Given the description of an element on the screen output the (x, y) to click on. 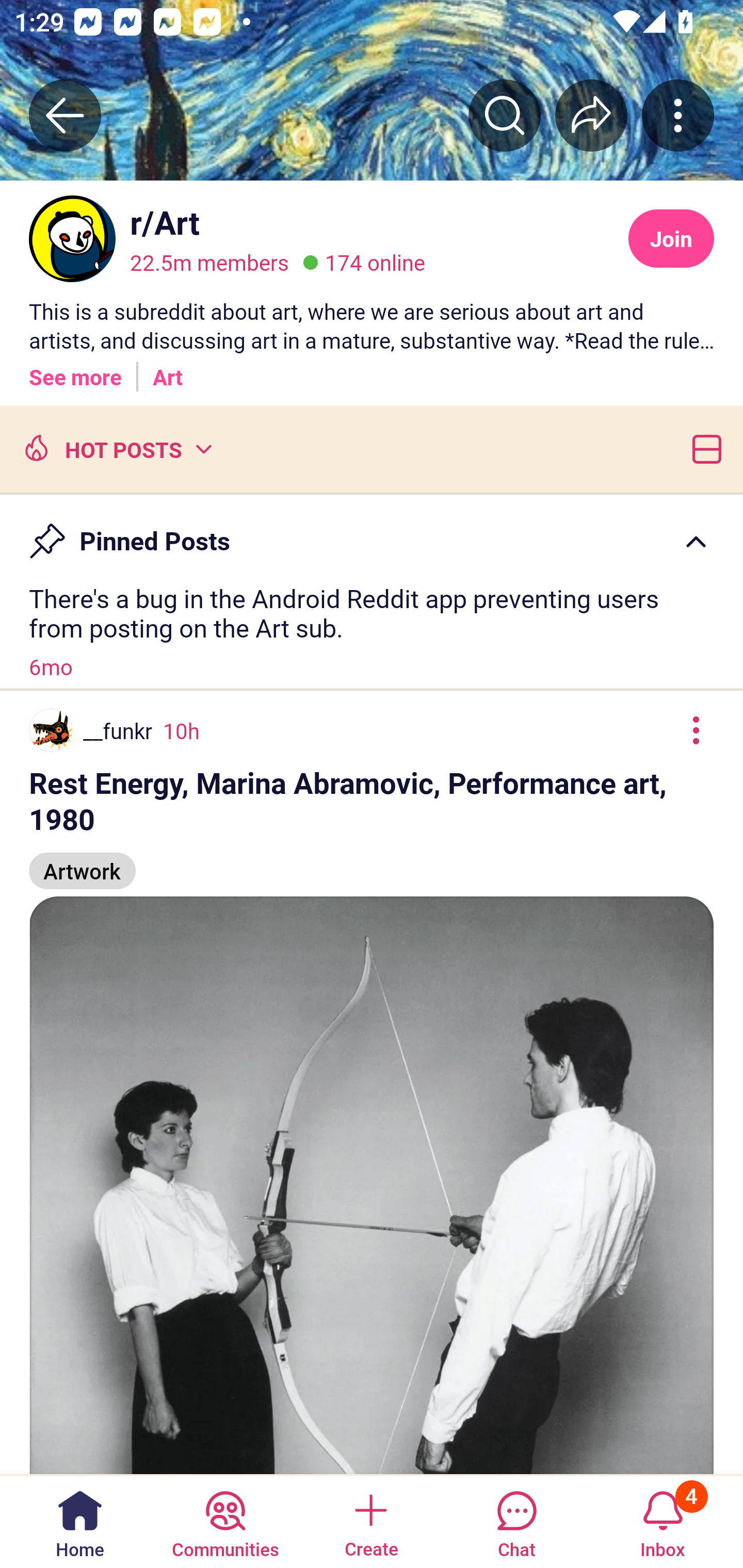
Back (64, 115)
Search r/﻿Art (504, 115)
Share r/﻿Art (591, 115)
More community actions (677, 115)
Hot posts HOT POSTS (116, 448)
Card (703, 448)
Pin Pinned Posts Caret (371, 531)
Artwork (81, 861)
Home (80, 1520)
Communities (225, 1520)
Create a post Create (370, 1520)
Chat (516, 1520)
Inbox, has 4 notifications 4 Inbox (662, 1520)
